Given the description of an element on the screen output the (x, y) to click on. 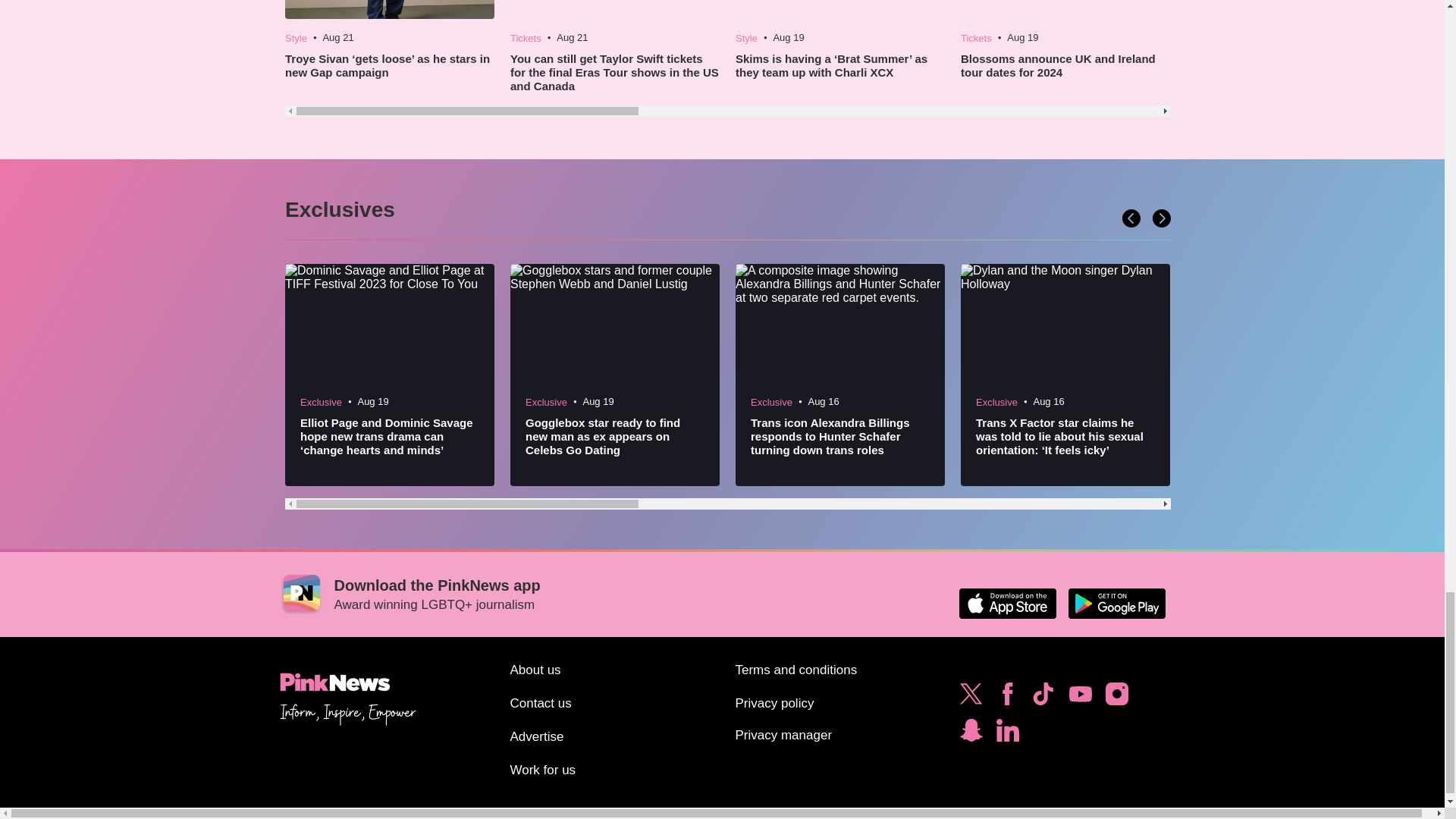
Subscribe to PinkNews on Snapchat (970, 733)
Follow PinkNews on LinkedIn (1007, 733)
Subscribe to PinkNews on YouTube (1079, 697)
Follow PinkNews on Twitter (970, 697)
Follow PinkNews on Instagram (1116, 697)
Download the PinkNews app on the Apple App Store (1006, 603)
Follow PinkNews on TikTok (1042, 697)
Download the PinkNews app on Google Play (1115, 603)
